Given the description of an element on the screen output the (x, y) to click on. 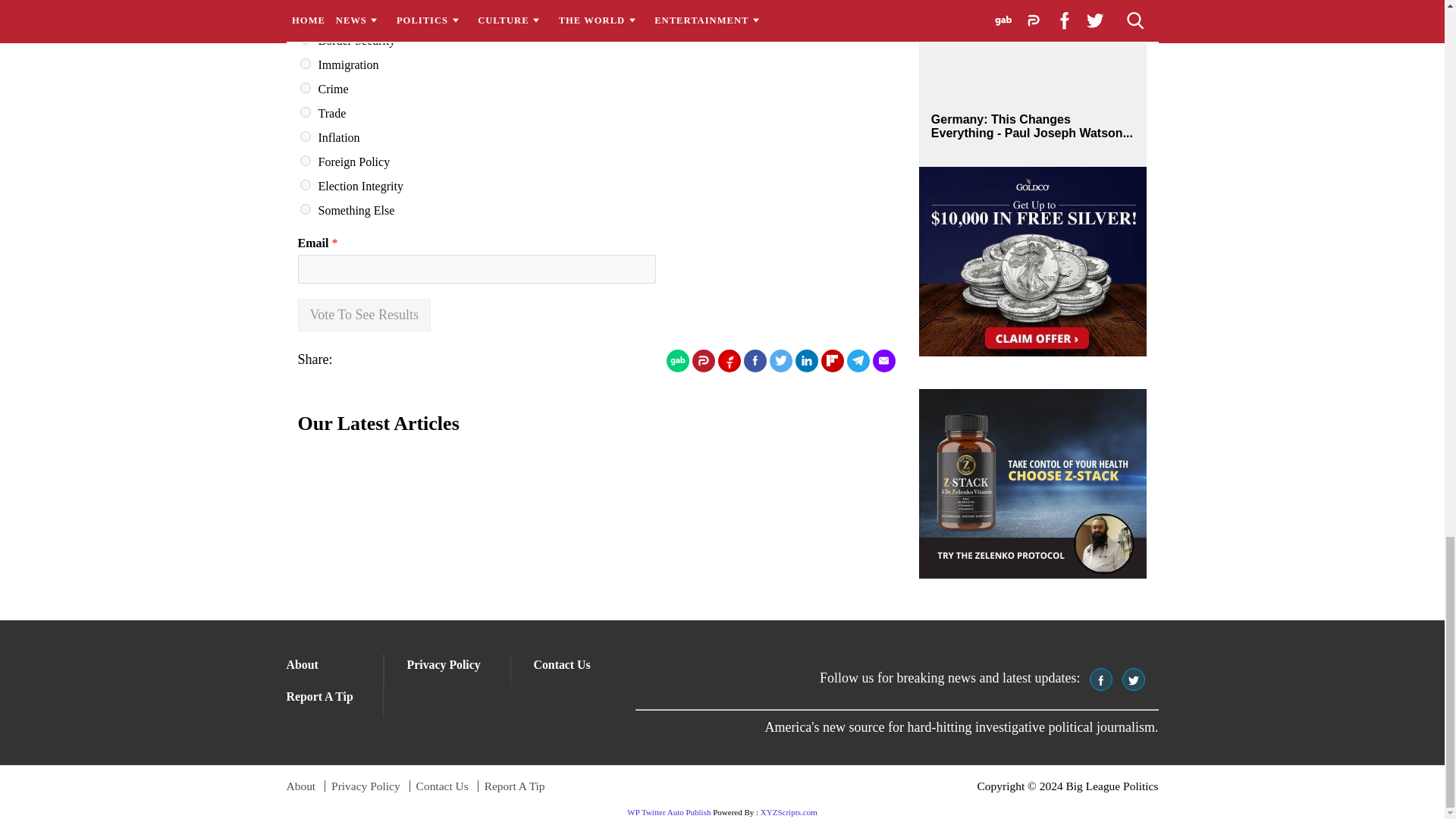
Inflation (305, 136)
WP Twitter Auto Publish (668, 811)
Border Security  (305, 39)
Crime (305, 87)
Foreign Policy  (305, 160)
Election Integrity  (305, 184)
Immigration (305, 63)
Follow us on Facebook (1100, 679)
Follow us on Twitter (1133, 679)
Trade (305, 112)
